Given the description of an element on the screen output the (x, y) to click on. 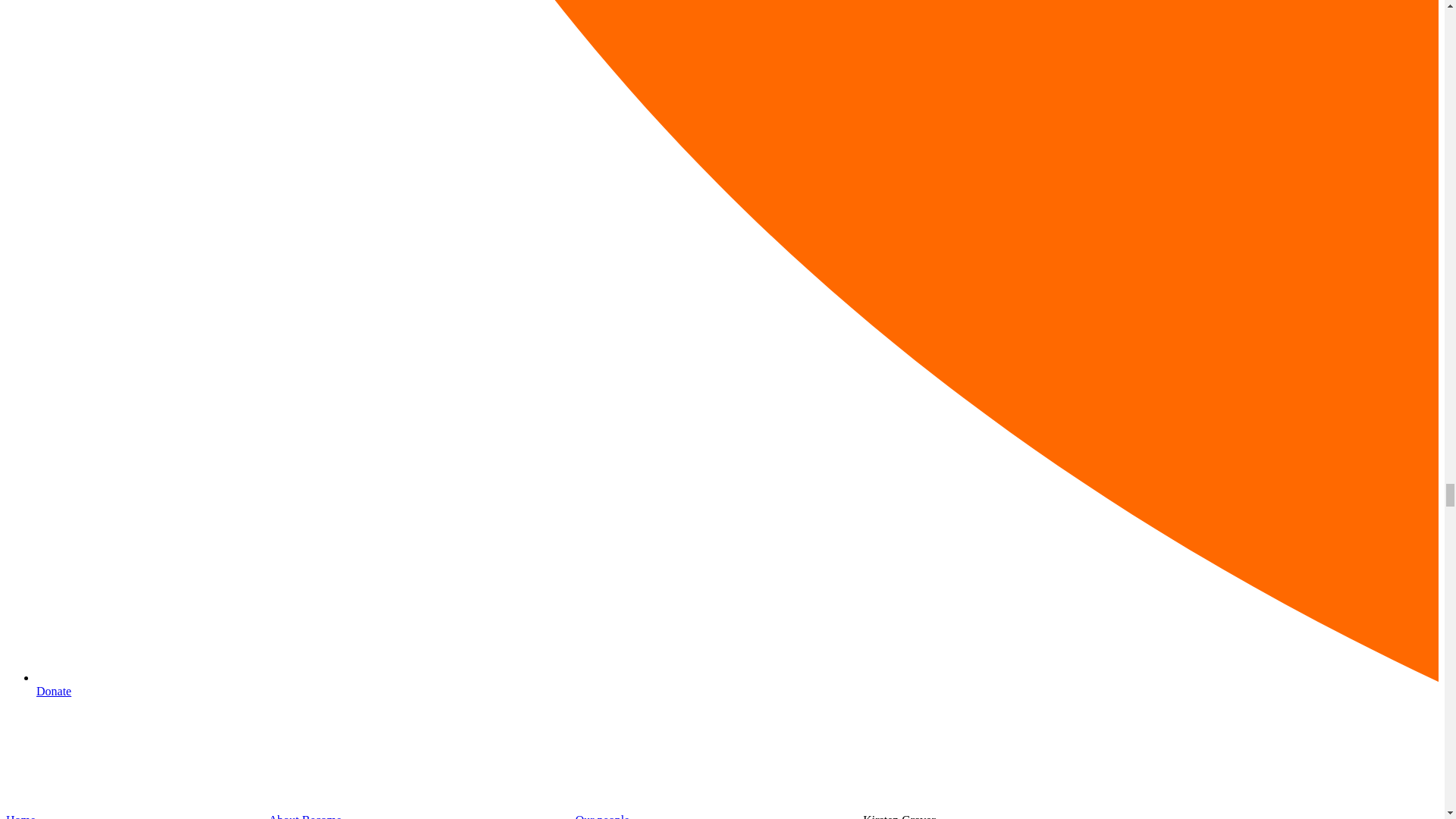
Home (19, 816)
